Given the description of an element on the screen output the (x, y) to click on. 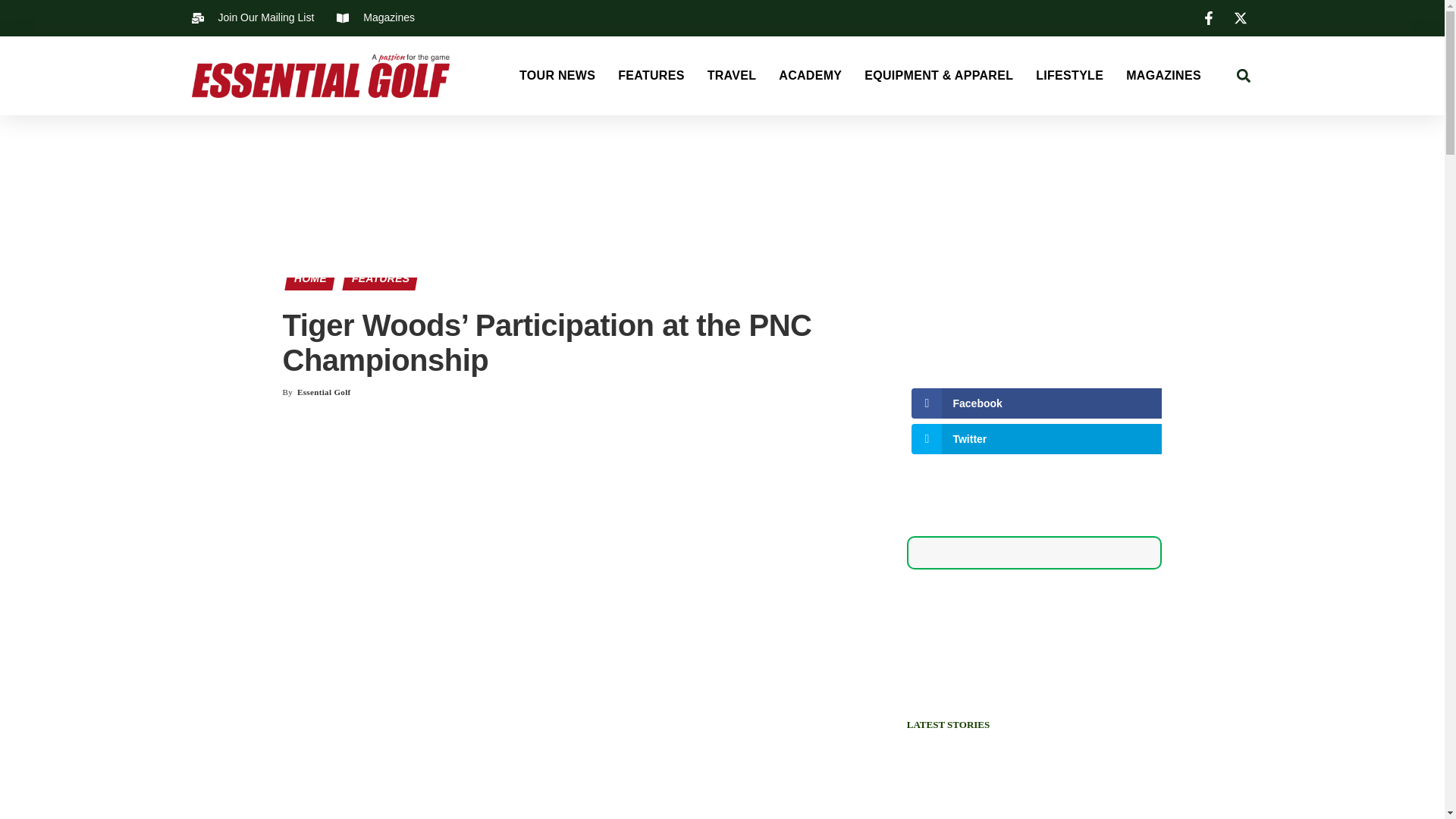
MAGAZINES (1163, 75)
Magazines (375, 18)
LIFESTYLE (1069, 75)
ACADEMY (809, 75)
TOUR NEWS (557, 75)
TRAVEL (732, 75)
Join Our Mailing List (252, 18)
FEATURES (650, 75)
